Given the description of an element on the screen output the (x, y) to click on. 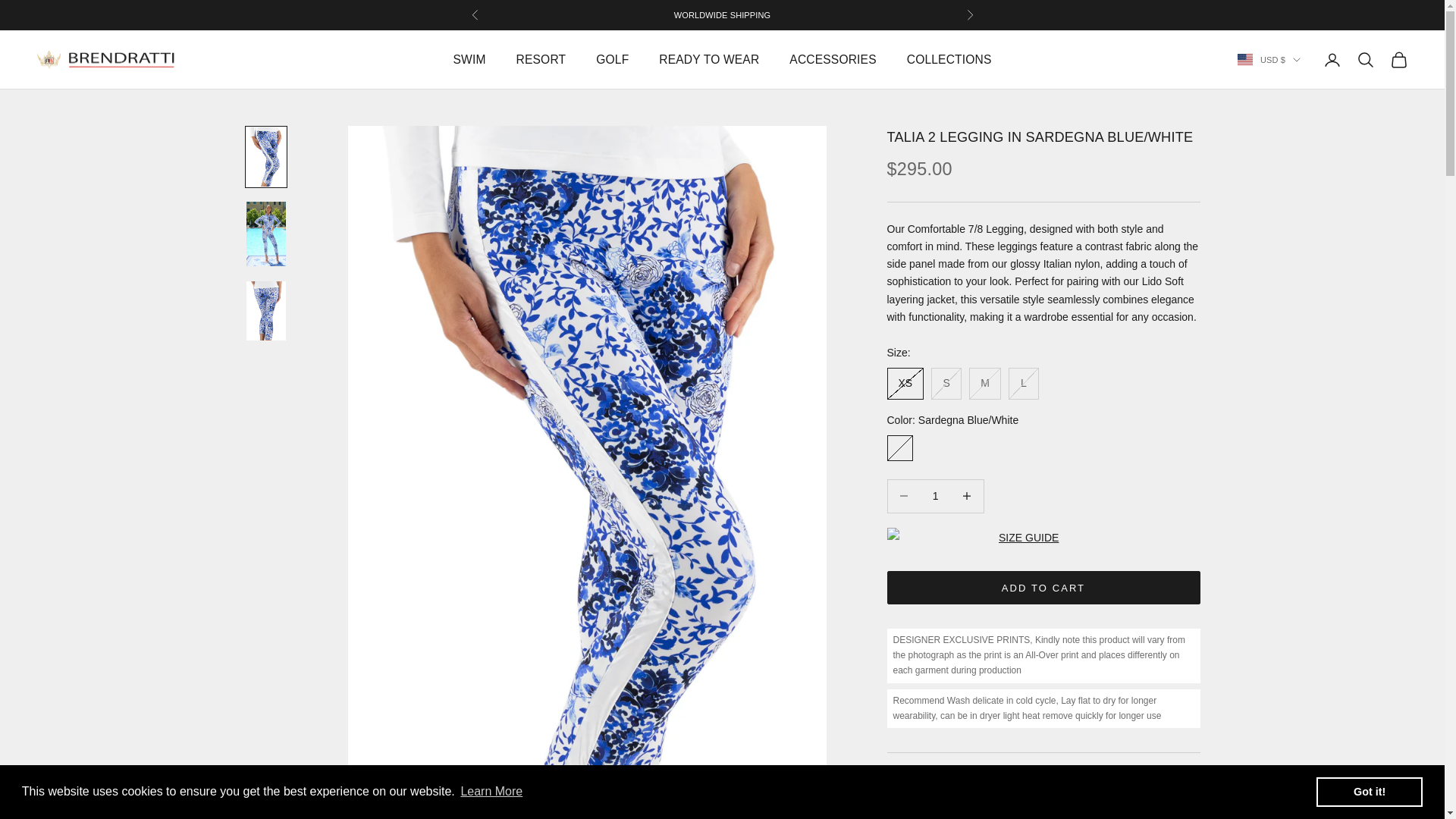
1 (935, 495)
Brendratti (106, 59)
Learn More (491, 791)
Got it! (1369, 791)
